Given the description of an element on the screen output the (x, y) to click on. 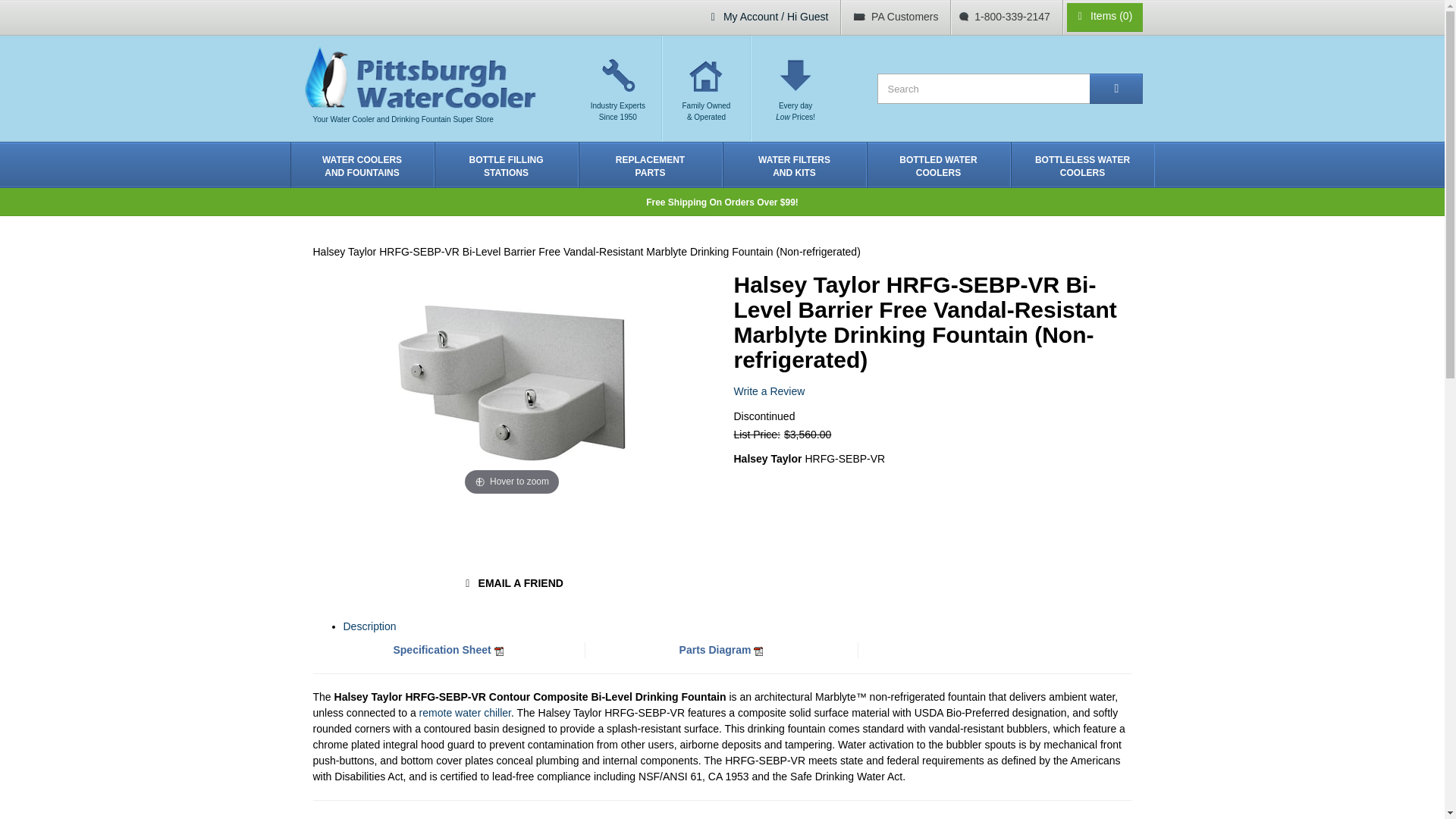
PA Customers (362, 164)
